Given the description of an element on the screen output the (x, y) to click on. 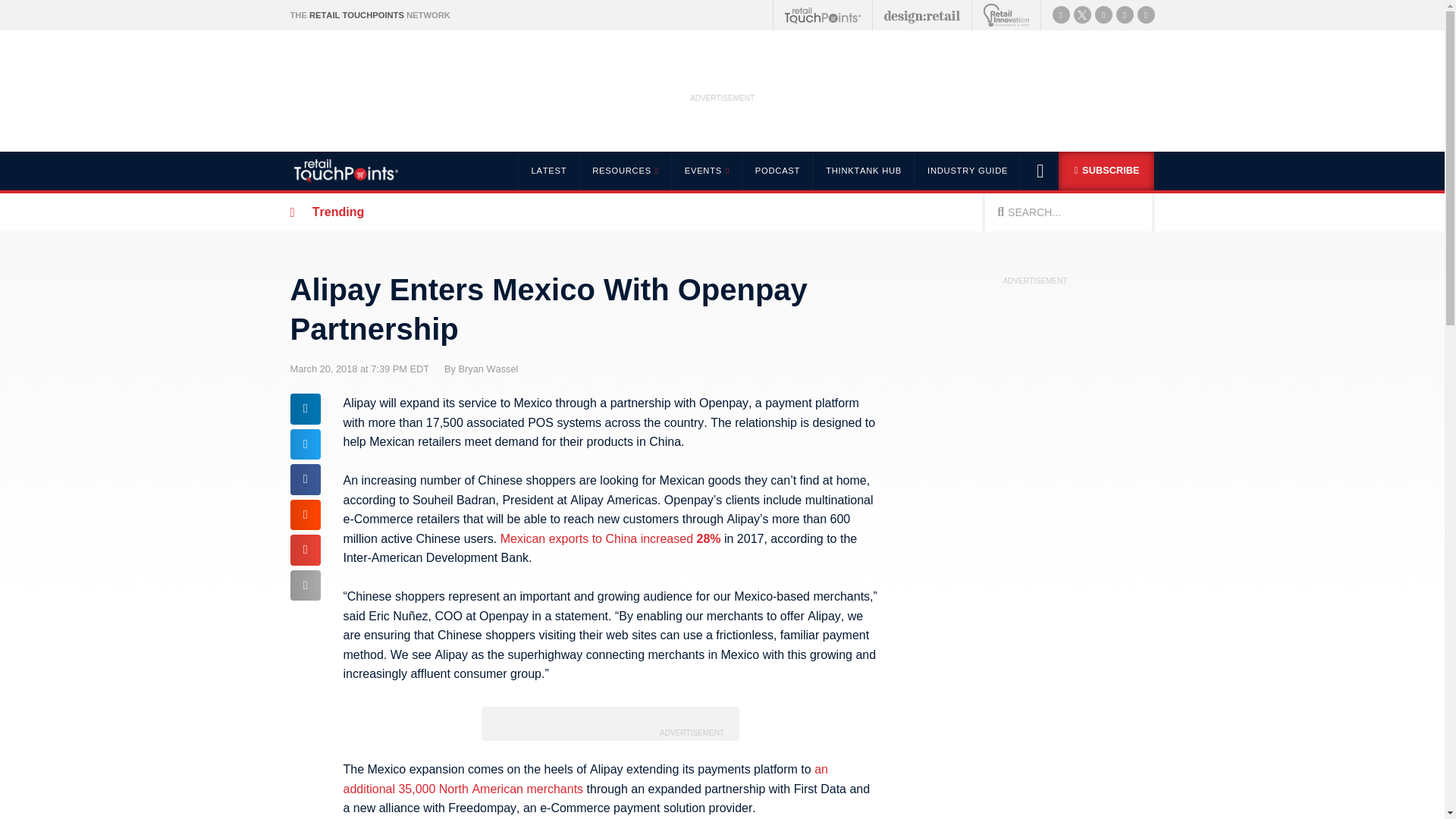
RESOURCES (623, 170)
THINKTANK HUB (863, 170)
EVENTS (706, 170)
INDUSTRY GUIDE (968, 170)
PODCAST (776, 170)
LATEST (547, 170)
